Given the description of an element on the screen output the (x, y) to click on. 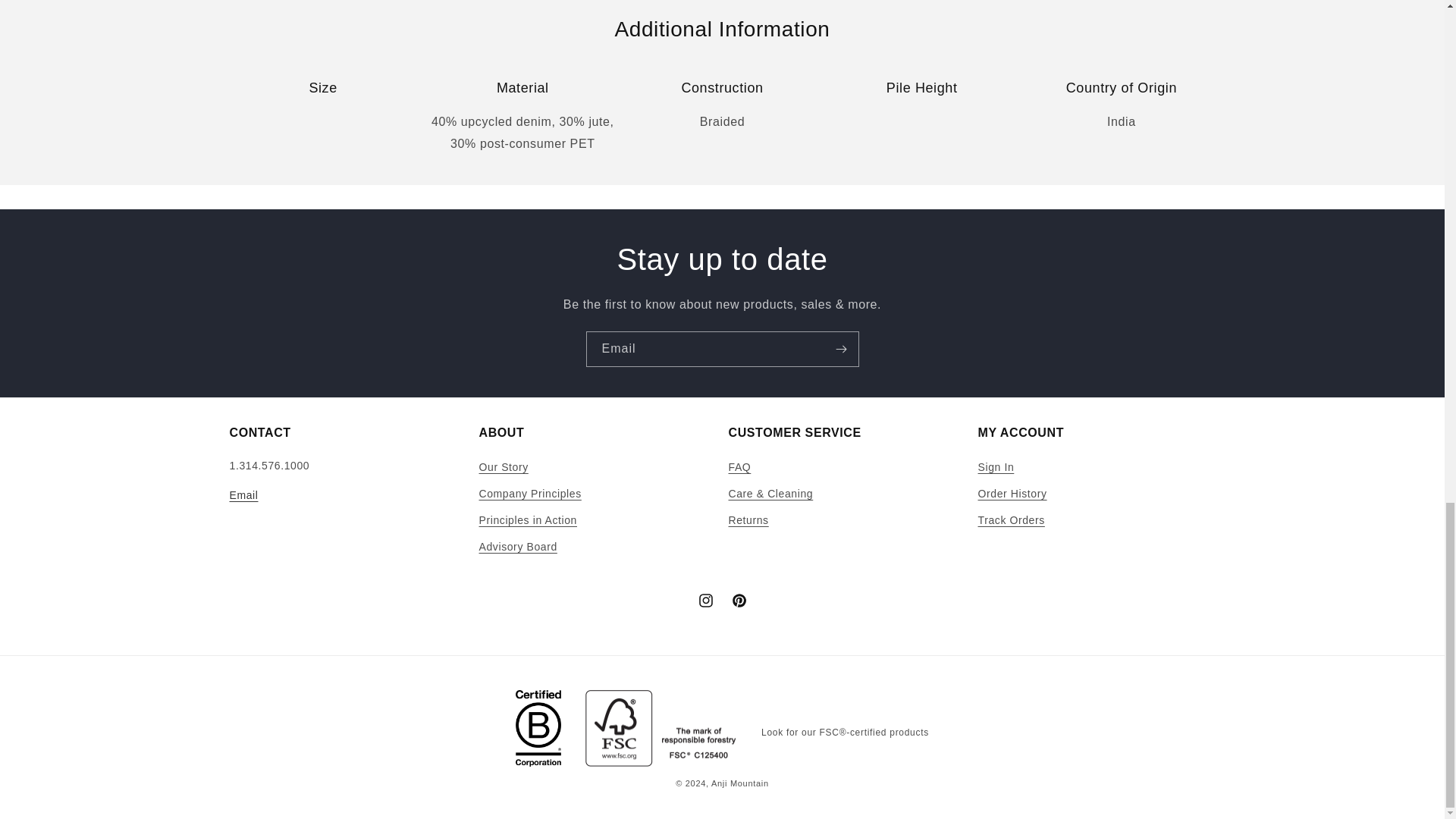
Stay up to date (1120, 110)
Email (1096, 493)
Pile Height (721, 259)
Size (722, 348)
